Given the description of an element on the screen output the (x, y) to click on. 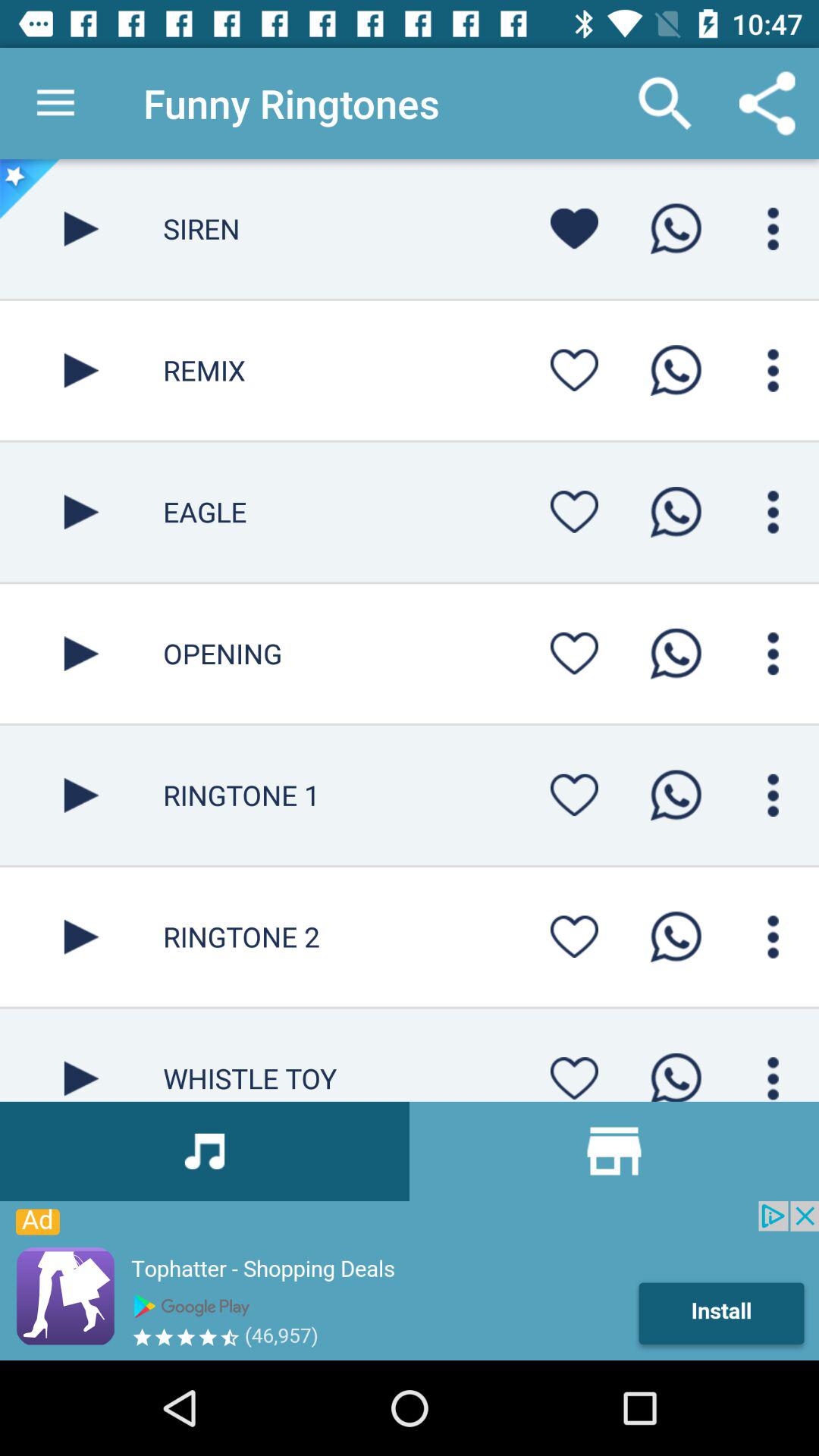
more options (773, 794)
